Given the description of an element on the screen output the (x, y) to click on. 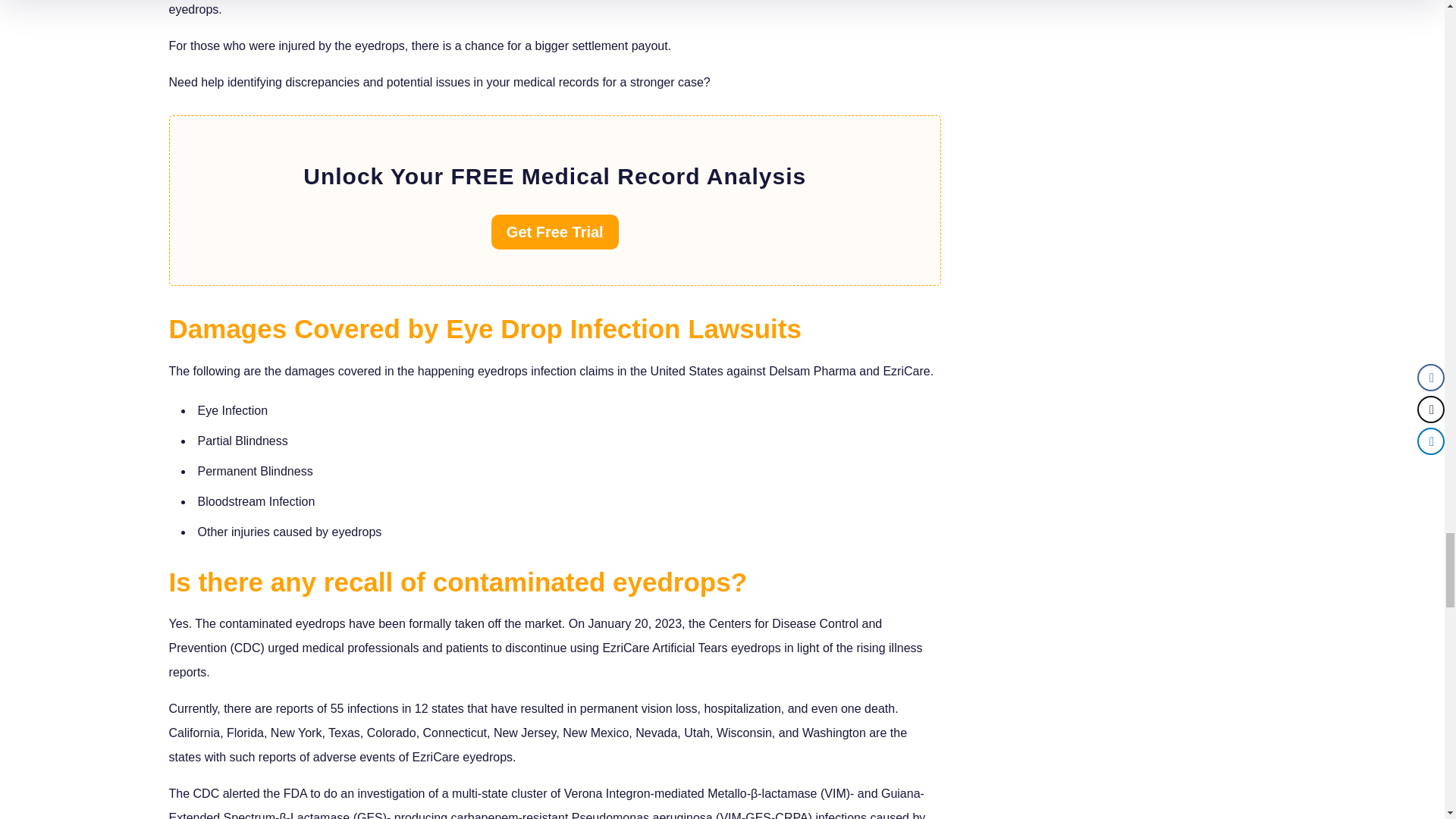
Get Free Trial (555, 231)
